Given the description of an element on the screen output the (x, y) to click on. 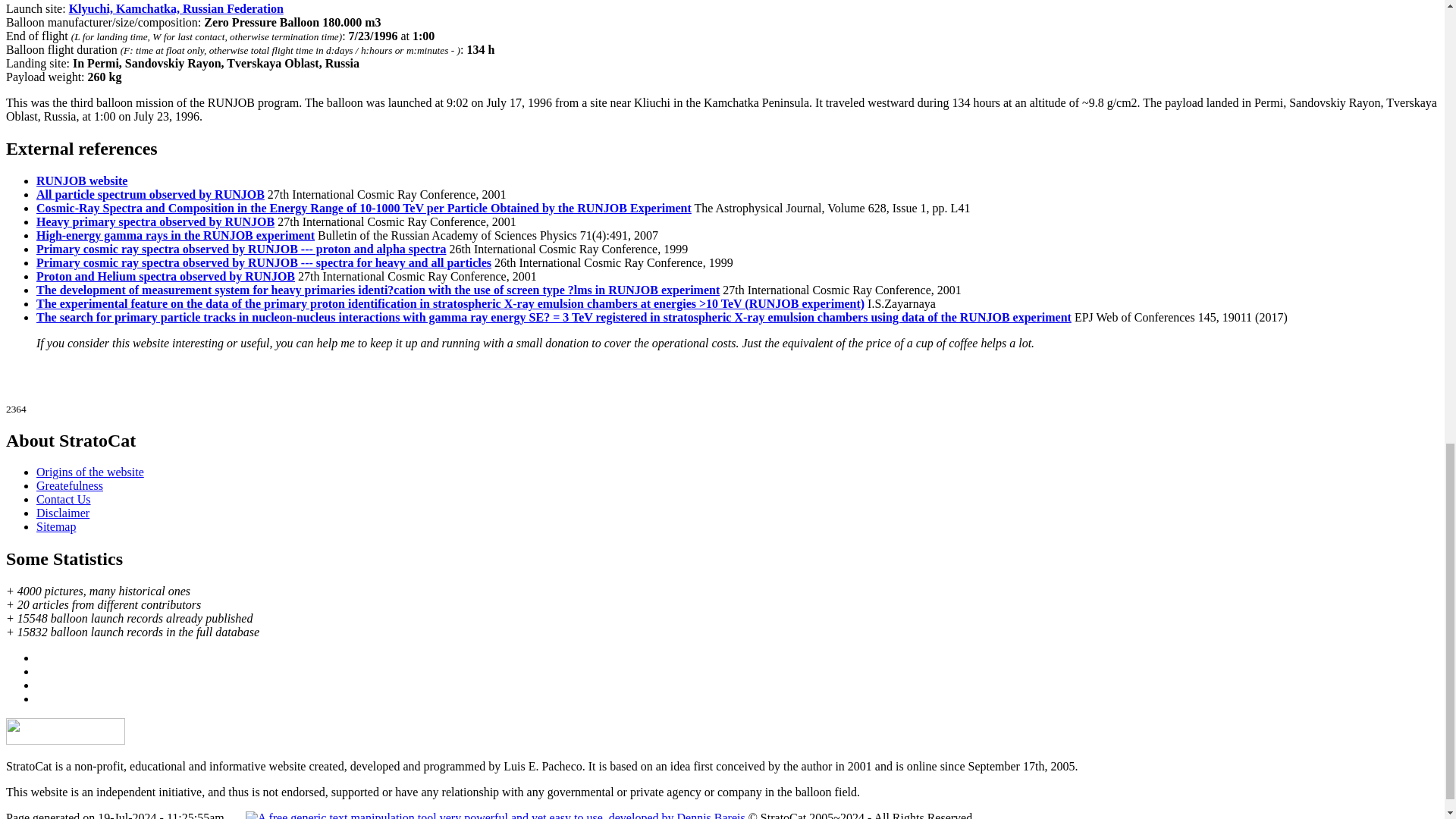
Klyuchi, Kamchatka, Russian Federation (175, 8)
RUNJOB website (82, 180)
Contact Us (63, 499)
High-energy gamma rays in the RUNJOB experiment (175, 235)
Proton and Helium spectra observed by RUNJOB (165, 276)
Disclaimer (62, 512)
All particle spectrum observed by RUNJOB (150, 194)
Origins of the website (90, 472)
Sitemap (55, 526)
Heavy primary spectra observed by RUNJOB (155, 221)
